Given the description of an element on the screen output the (x, y) to click on. 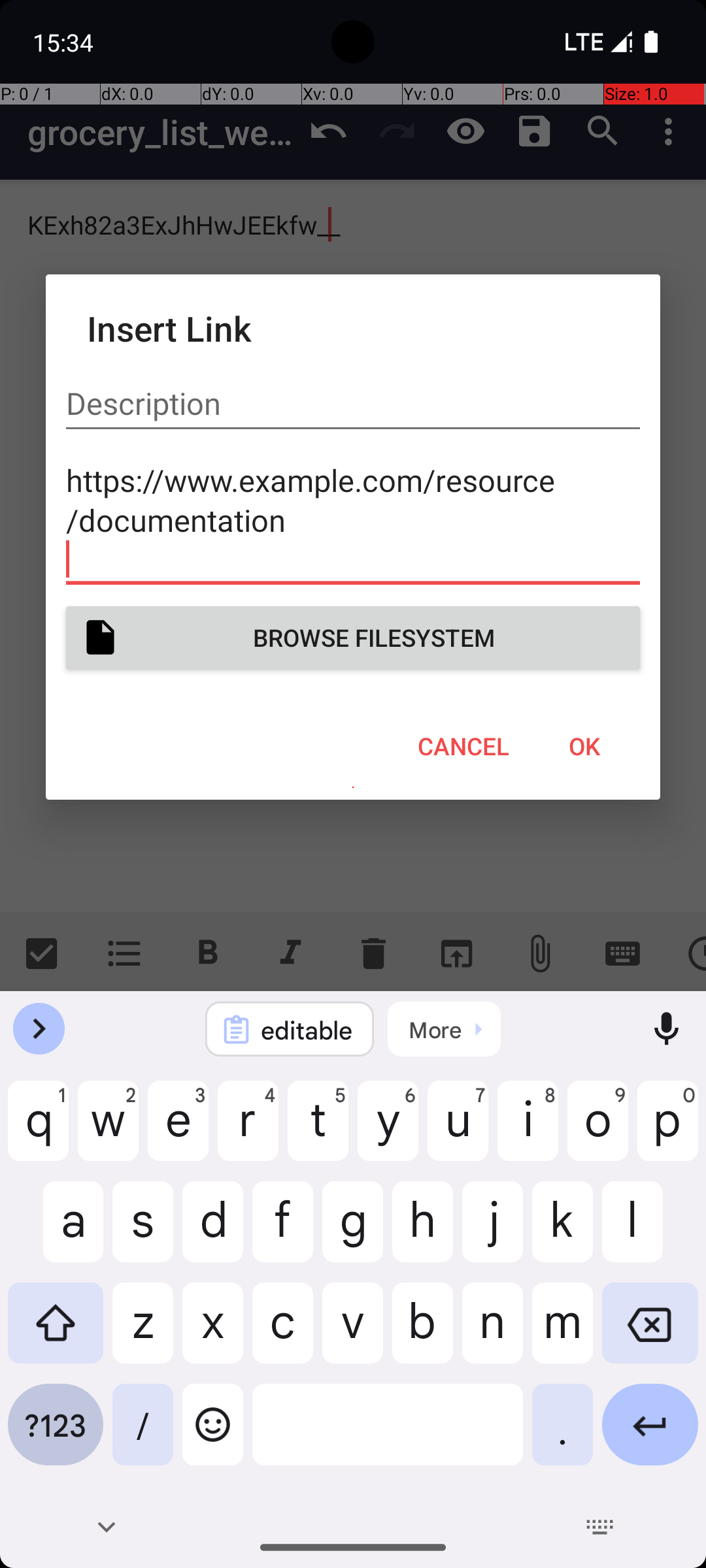
Insert Link Element type: android.widget.TextView (352, 328)
Description Element type: android.widget.EditText (352, 403)
https://www.example.com/resource/documentation
 Element type: android.widget.EditText (352, 519)
BROWSE FILESYSTEM Element type: android.widget.Button (352, 637)
slash Element type: android.widget.FrameLayout (142, 1434)
Click to open Clipboard Element type: android.view.ViewGroup (443, 1028)
editable Element type: android.widget.TextView (306, 1029)
